Given the description of an element on the screen output the (x, y) to click on. 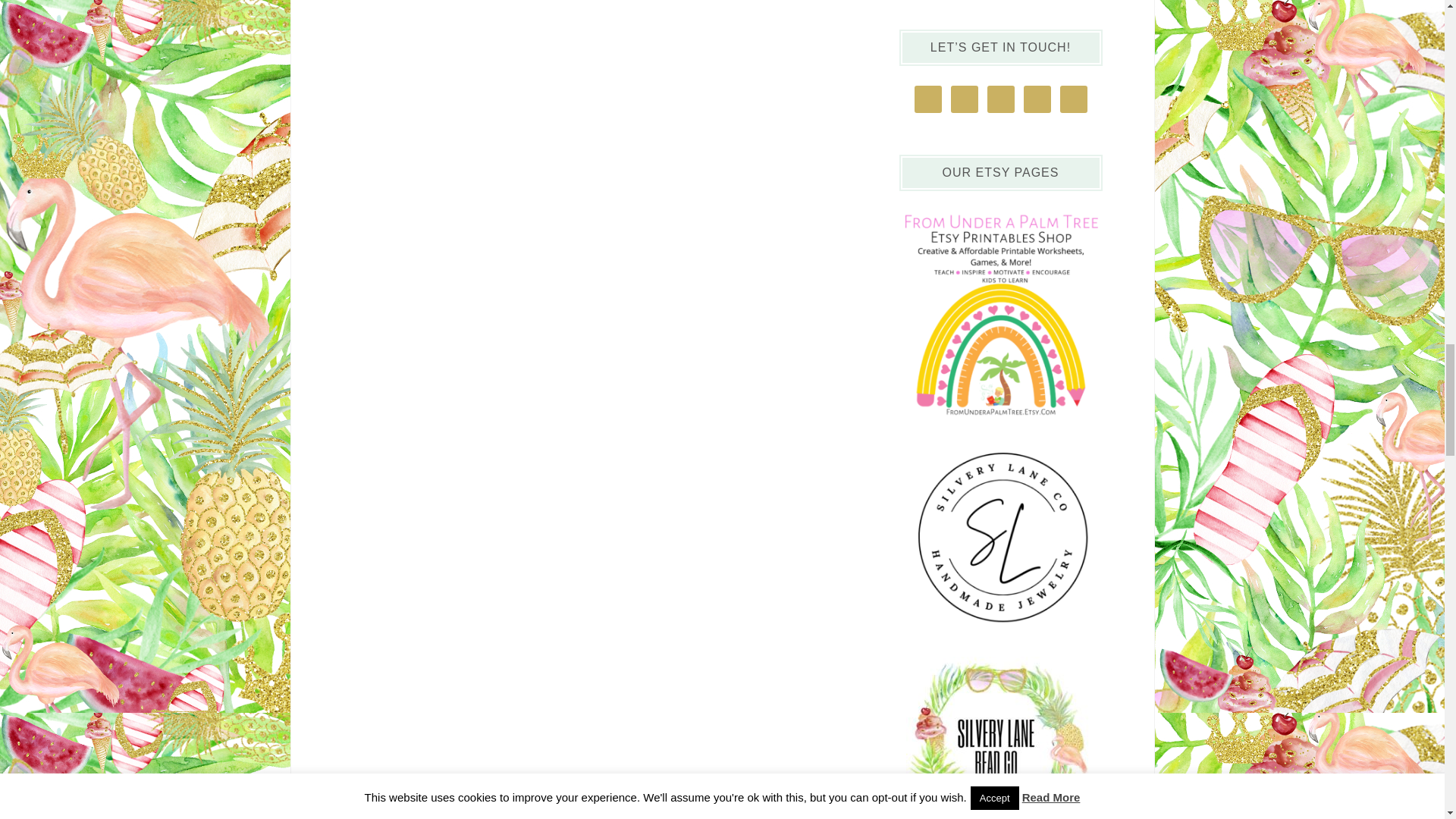
SL Circle Logo NEW-2 (1000, 535)
FUAPT Logo (1000, 422)
